Given the description of an element on the screen output the (x, y) to click on. 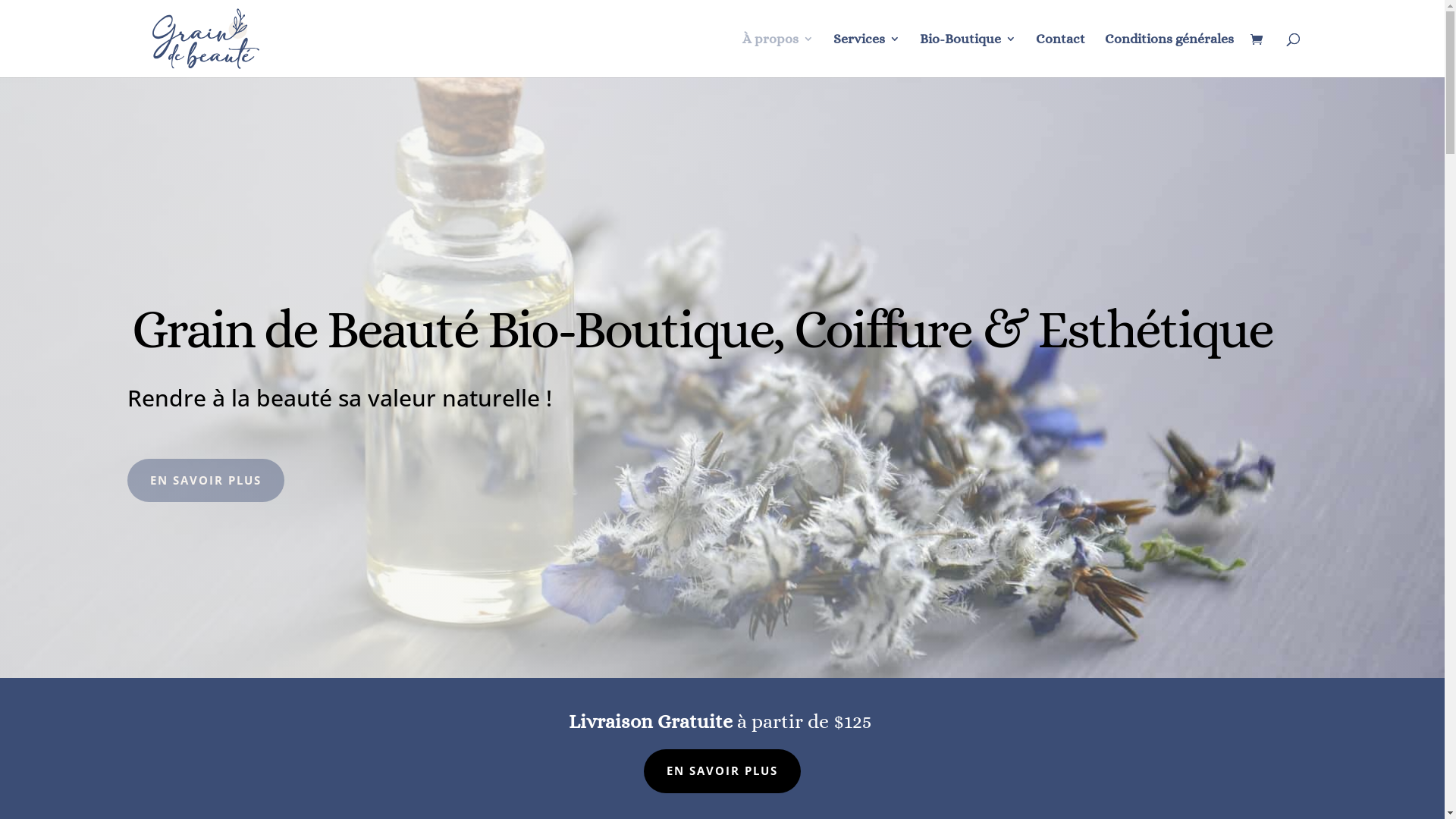
Services Element type: text (865, 55)
EN SAVOIR PLUS Element type: text (205, 480)
EN SAVOIR PLUS Element type: text (721, 771)
Bio-Boutique Element type: text (967, 55)
Contact Element type: text (1060, 55)
